Given the description of an element on the screen output the (x, y) to click on. 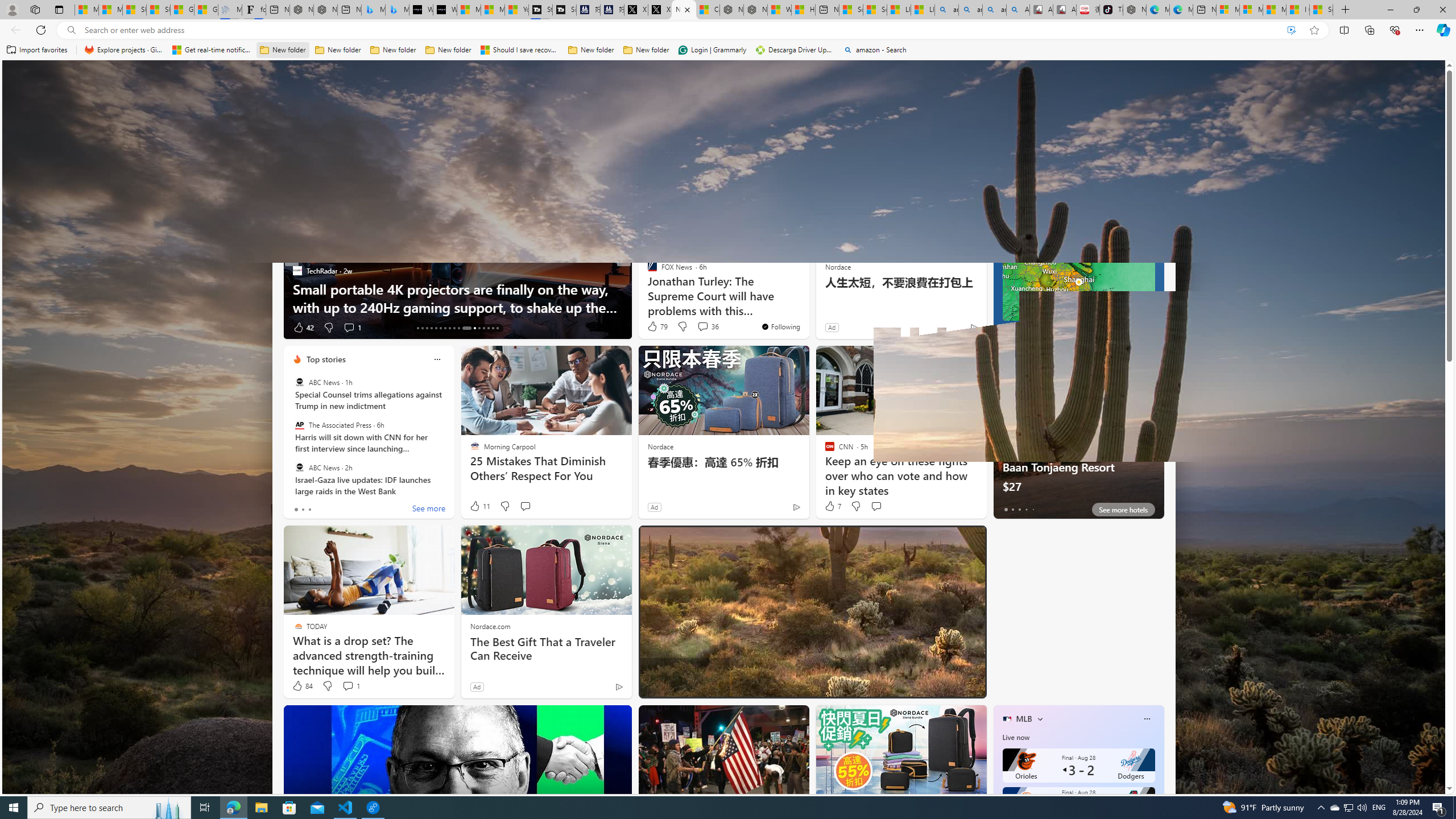
Partly sunny (1014, 208)
Partly sunny (1014, 208)
tab-3 (1025, 509)
View comments 44 Comment (710, 685)
I Gained 20 Pounds of Muscle in 30 Days! | Watch (1297, 9)
Nordace.com (490, 625)
Add a site (916, 126)
Class: control (27, 78)
Health (746, 151)
Enter your search term (726, 78)
Hourly (1018, 233)
